Given the description of an element on the screen output the (x, y) to click on. 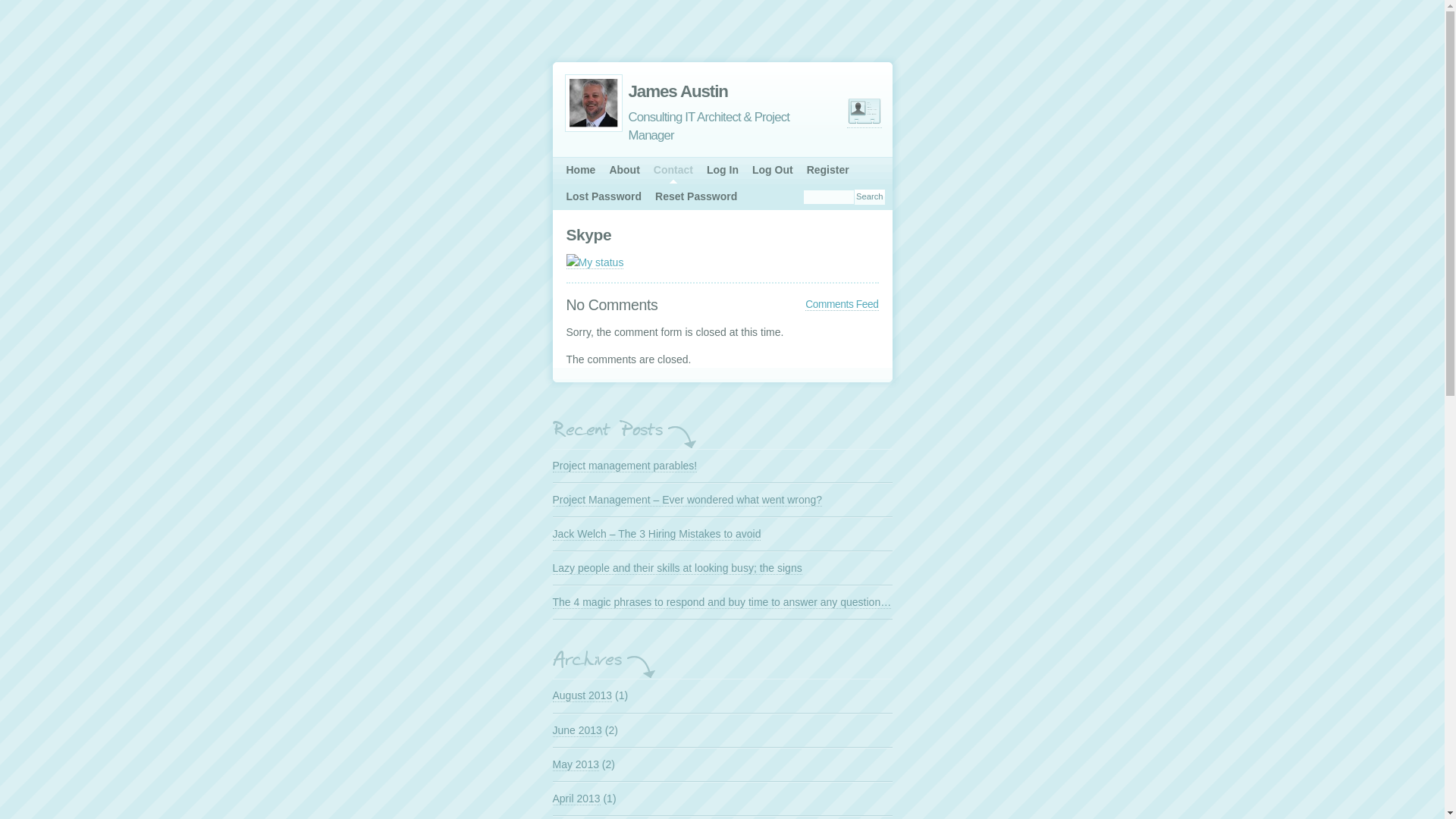
Register Element type: text (828, 169)
About Element type: text (624, 169)
Download vCard Element type: hover (863, 111)
Project management parables! Element type: text (624, 465)
August 2013 Element type: text (581, 695)
Lazy people and their skills at looking busy; the signs Element type: text (676, 567)
Log In Element type: text (722, 169)
Log Out Element type: text (772, 169)
Contact Element type: text (672, 169)
Home Element type: text (580, 169)
Lost Password Element type: text (604, 196)
Search Element type: text (868, 196)
May 2013 Element type: text (575, 764)
Comments Feed Element type: text (841, 304)
James Austin Element type: text (698, 91)
June 2013 Element type: text (576, 729)
Reset Password Element type: text (695, 196)
April 2013 Element type: text (575, 798)
